Given the description of an element on the screen output the (x, y) to click on. 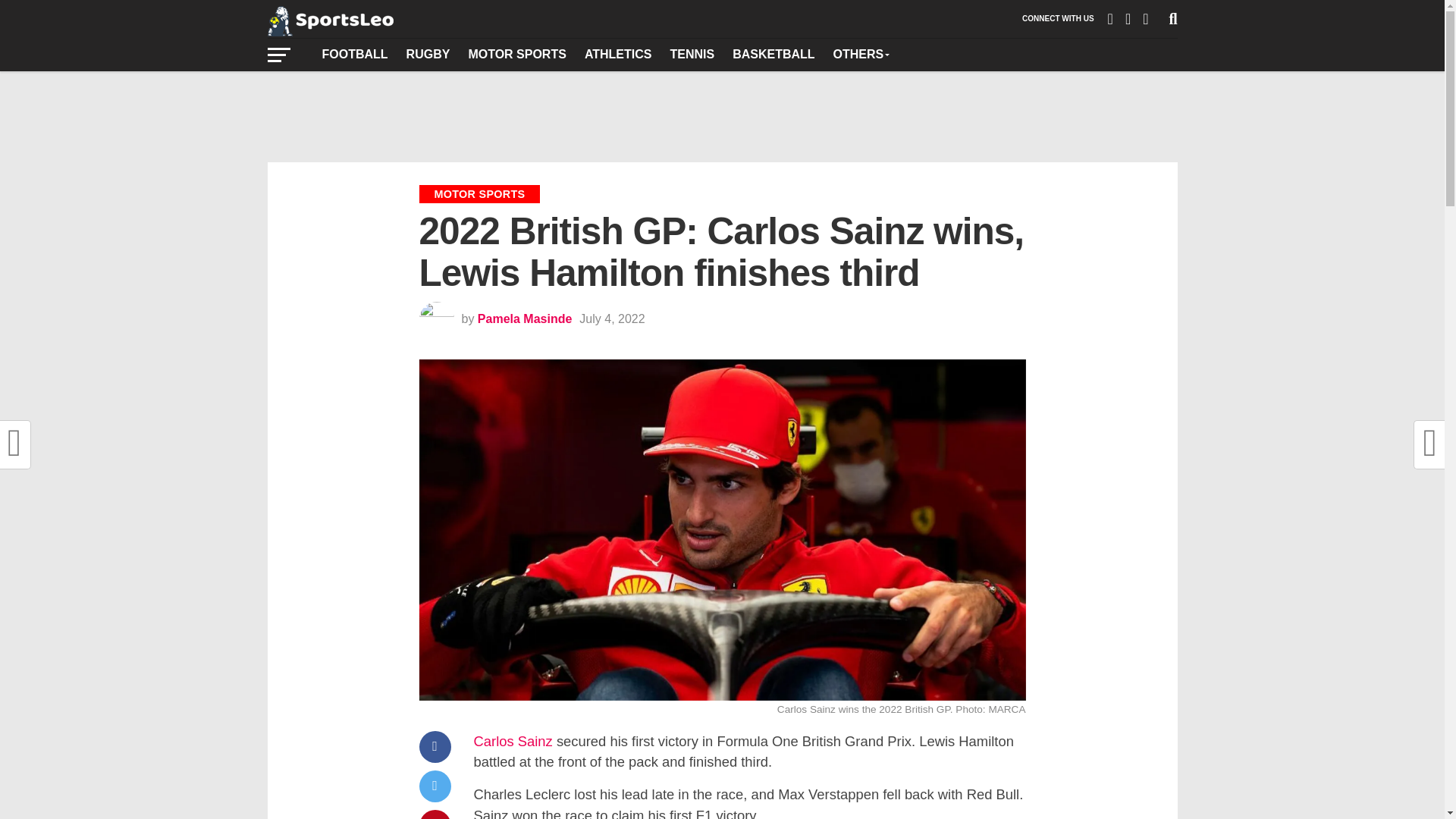
MOTOR SPORTS (516, 54)
Posts by Pamela Masinde (524, 318)
BASKETBALL (773, 54)
FOOTBALL (354, 54)
Pamela Masinde (524, 318)
OTHERS (861, 54)
ATHLETICS (618, 54)
TENNIS (692, 54)
RUGBY (428, 54)
